Given the description of an element on the screen output the (x, y) to click on. 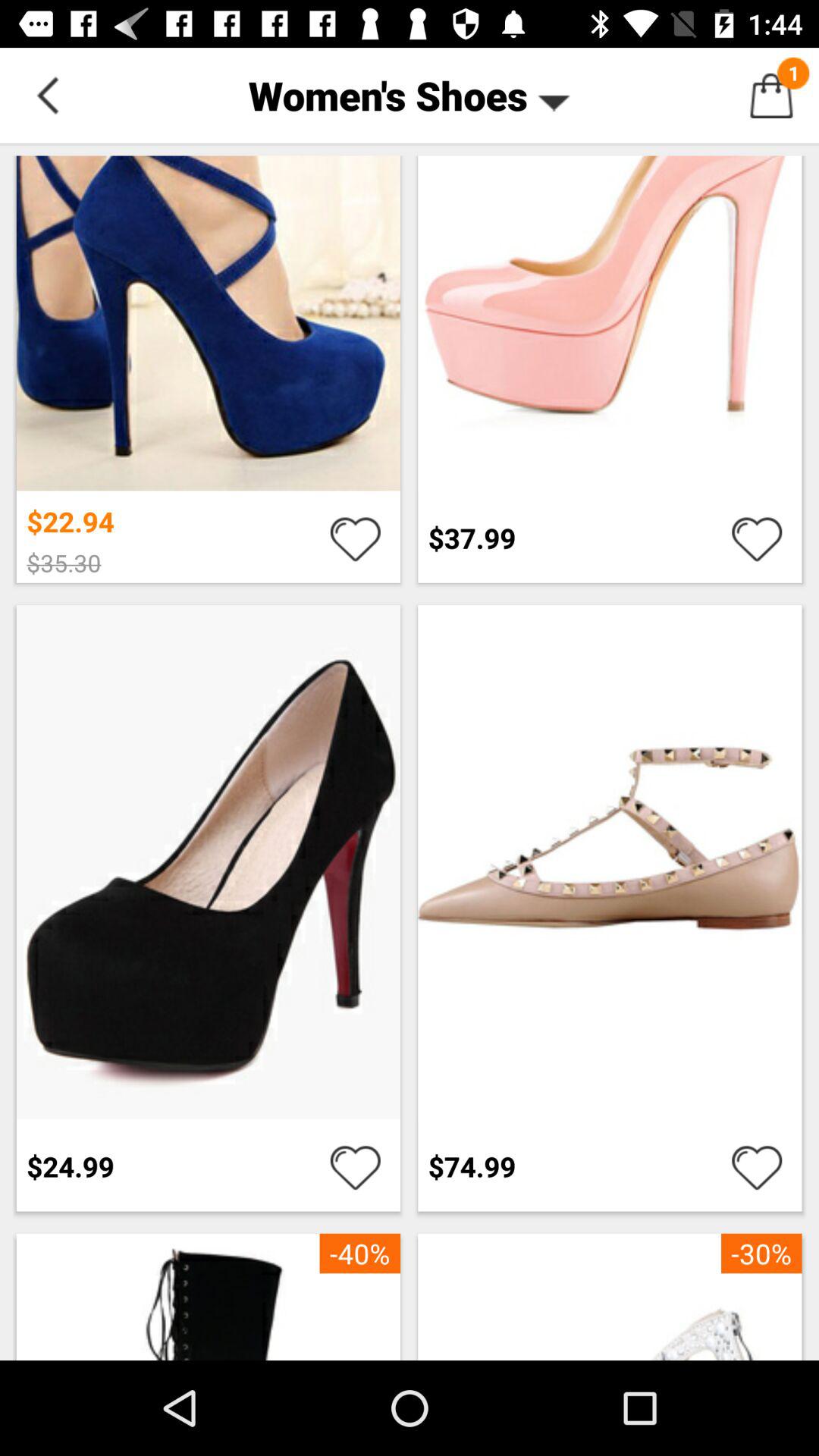
add to favorites (756, 1166)
